Given the description of an element on the screen output the (x, y) to click on. 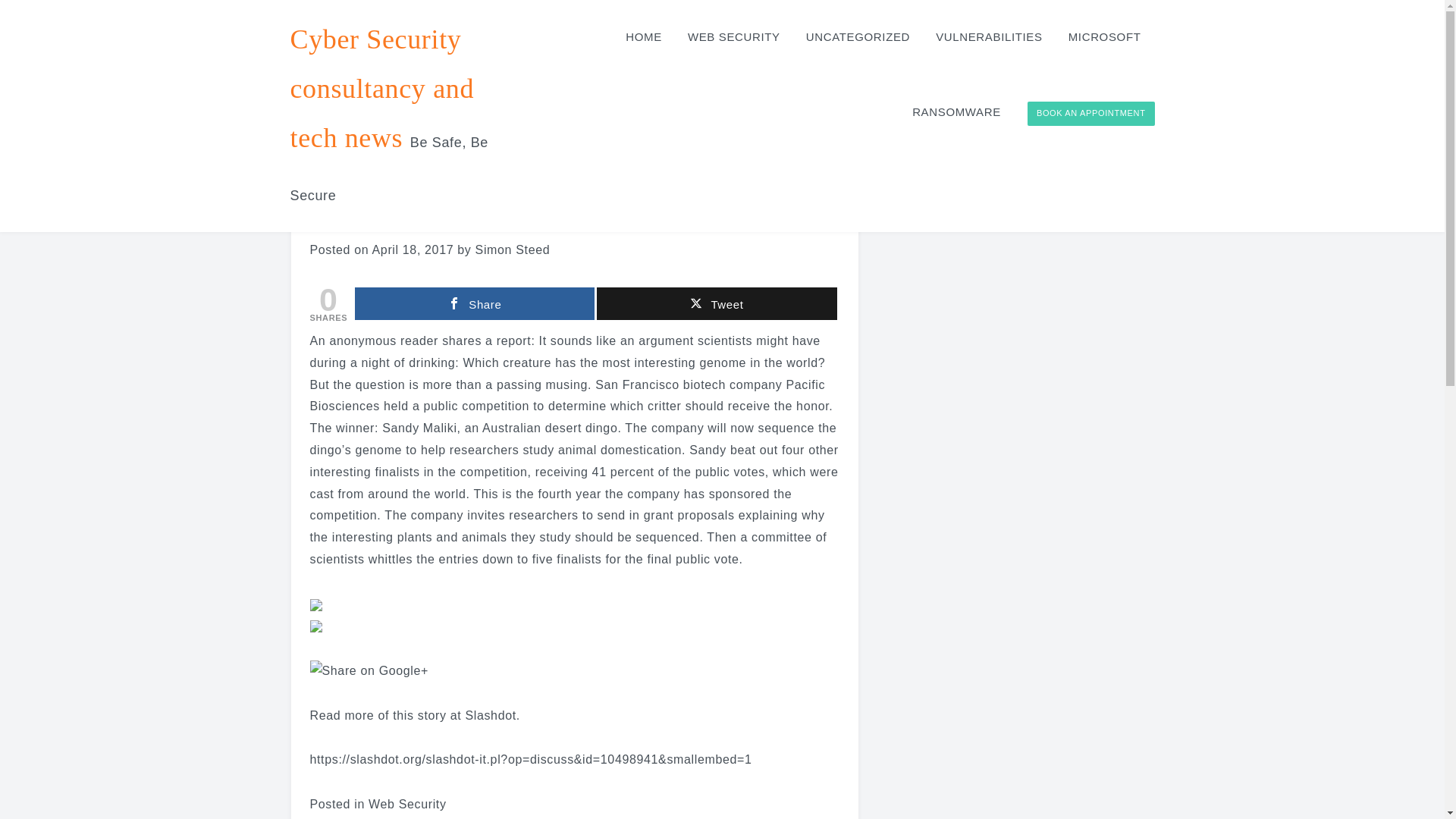
RANSOMWARE (956, 112)
Web Security (407, 803)
WEB SECURITY (733, 37)
Tweet (715, 303)
HOME (643, 37)
April 18, 2017 (413, 249)
UNCATEGORIZED (857, 37)
Simon Steed (513, 249)
Cyber Security consultancy and tech news (381, 88)
VULNERABILITIES (988, 37)
Share (474, 303)
BOOK AN APPOINTMENT (1090, 113)
Read more of this story (376, 714)
MICROSOFT (1104, 37)
